Given the description of an element on the screen output the (x, y) to click on. 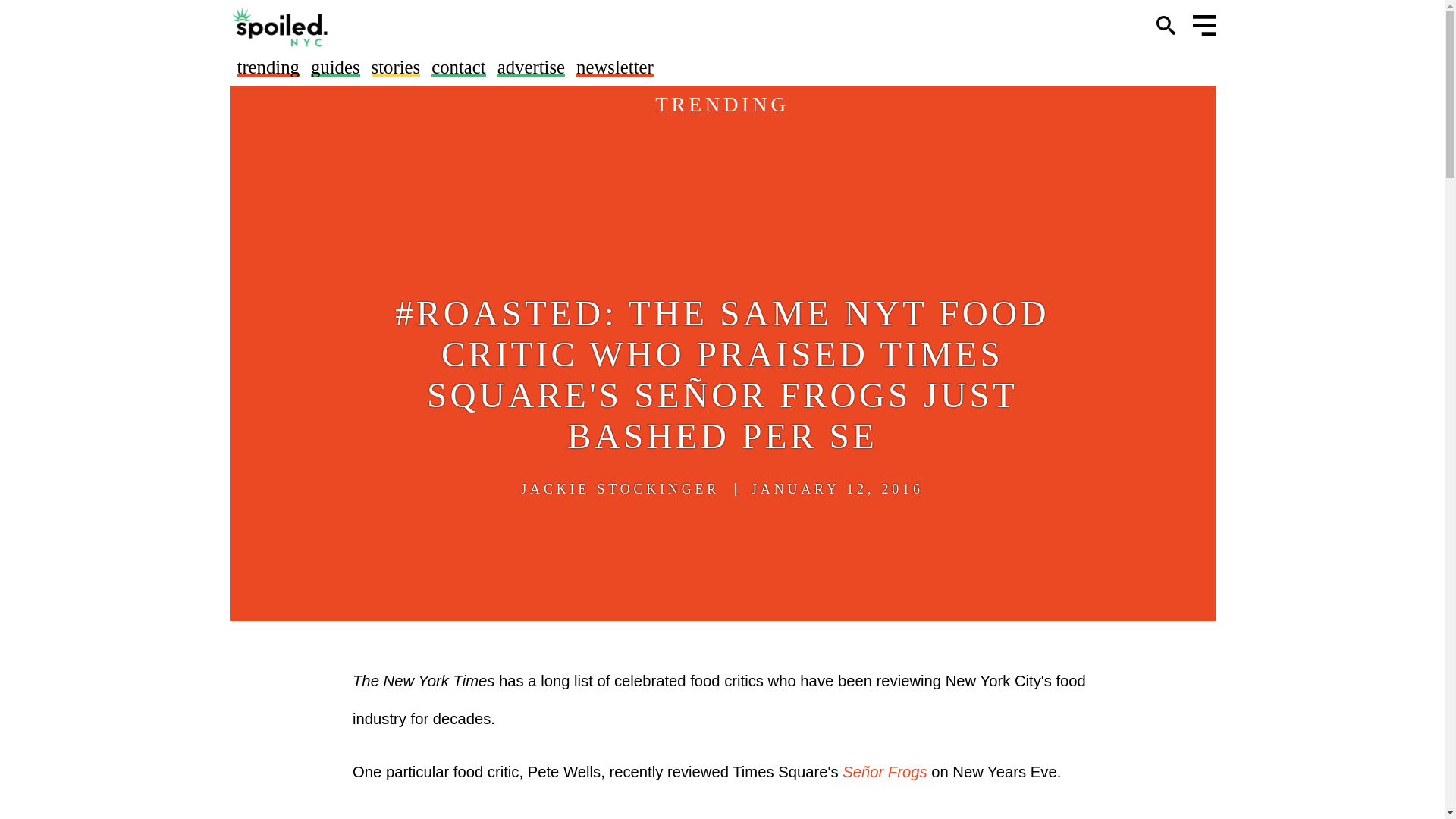
newsletter (614, 66)
contact (457, 66)
trending (266, 66)
advertise (530, 66)
stories (395, 66)
JACKIE STOCKINGER (620, 489)
TRENDING (722, 104)
guides (335, 66)
